Given the description of an element on the screen output the (x, y) to click on. 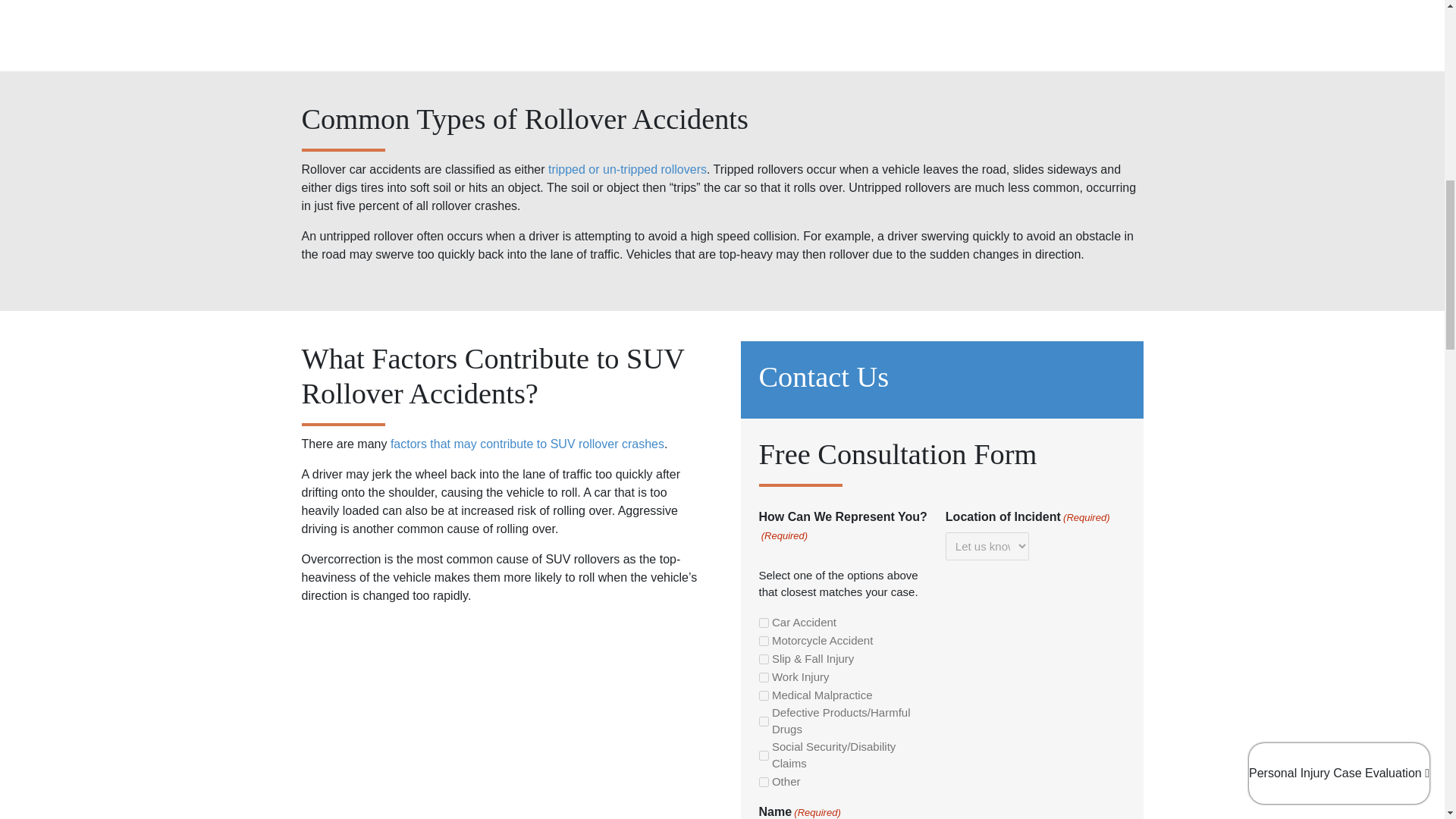
Medical Malpractice (763, 696)
Other (763, 782)
Car Accident (763, 623)
Motorcycle Accident (763, 641)
Work Injury (763, 677)
